Given the description of an element on the screen output the (x, y) to click on. 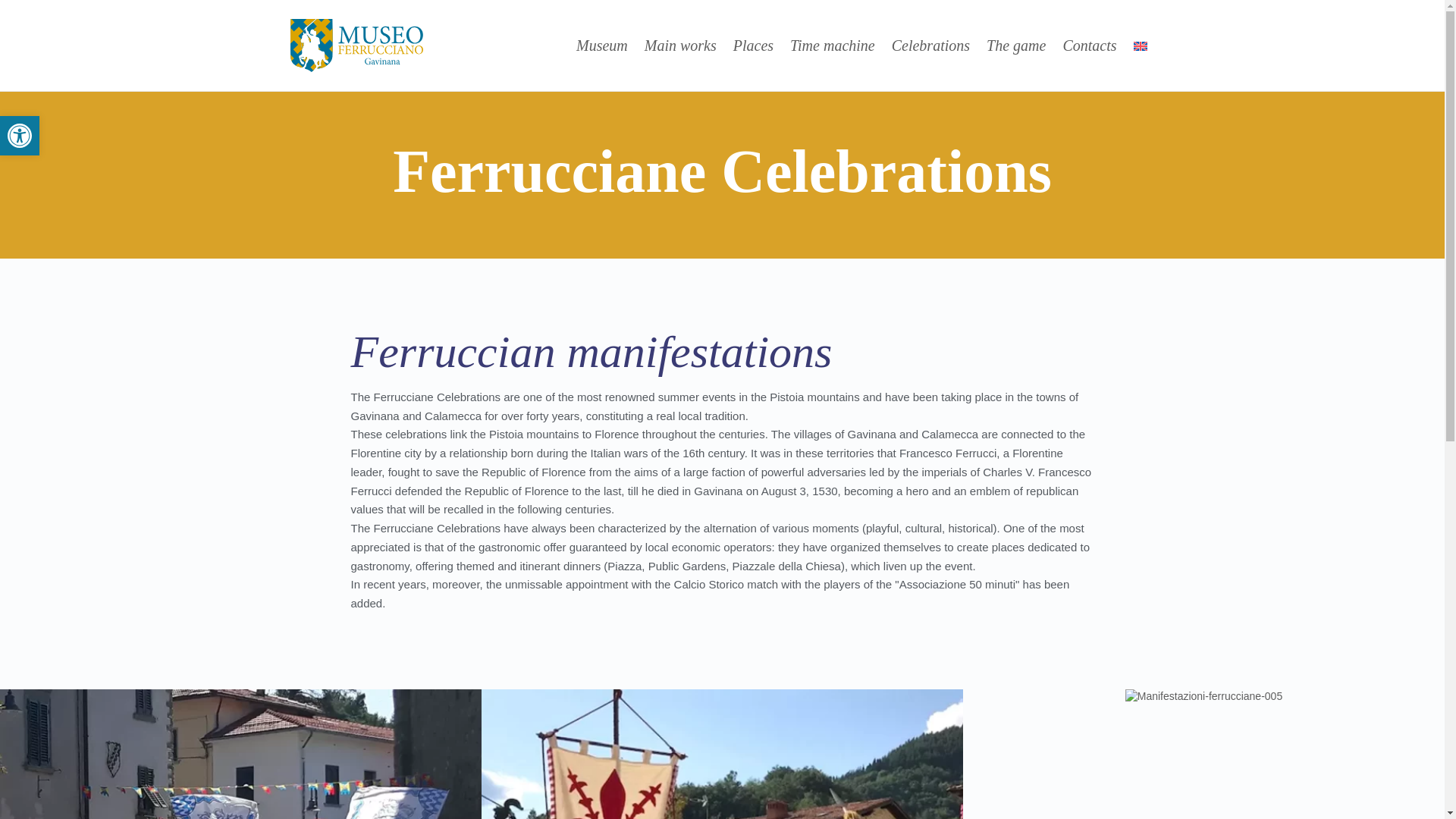
Celebrations (930, 45)
Museum (601, 45)
Main works (19, 135)
Accessibility Tools (680, 45)
Places (19, 135)
Accessibility Tools (753, 45)
Contacts (19, 135)
The game (1089, 45)
Time machine (1016, 45)
